Given the description of an element on the screen output the (x, y) to click on. 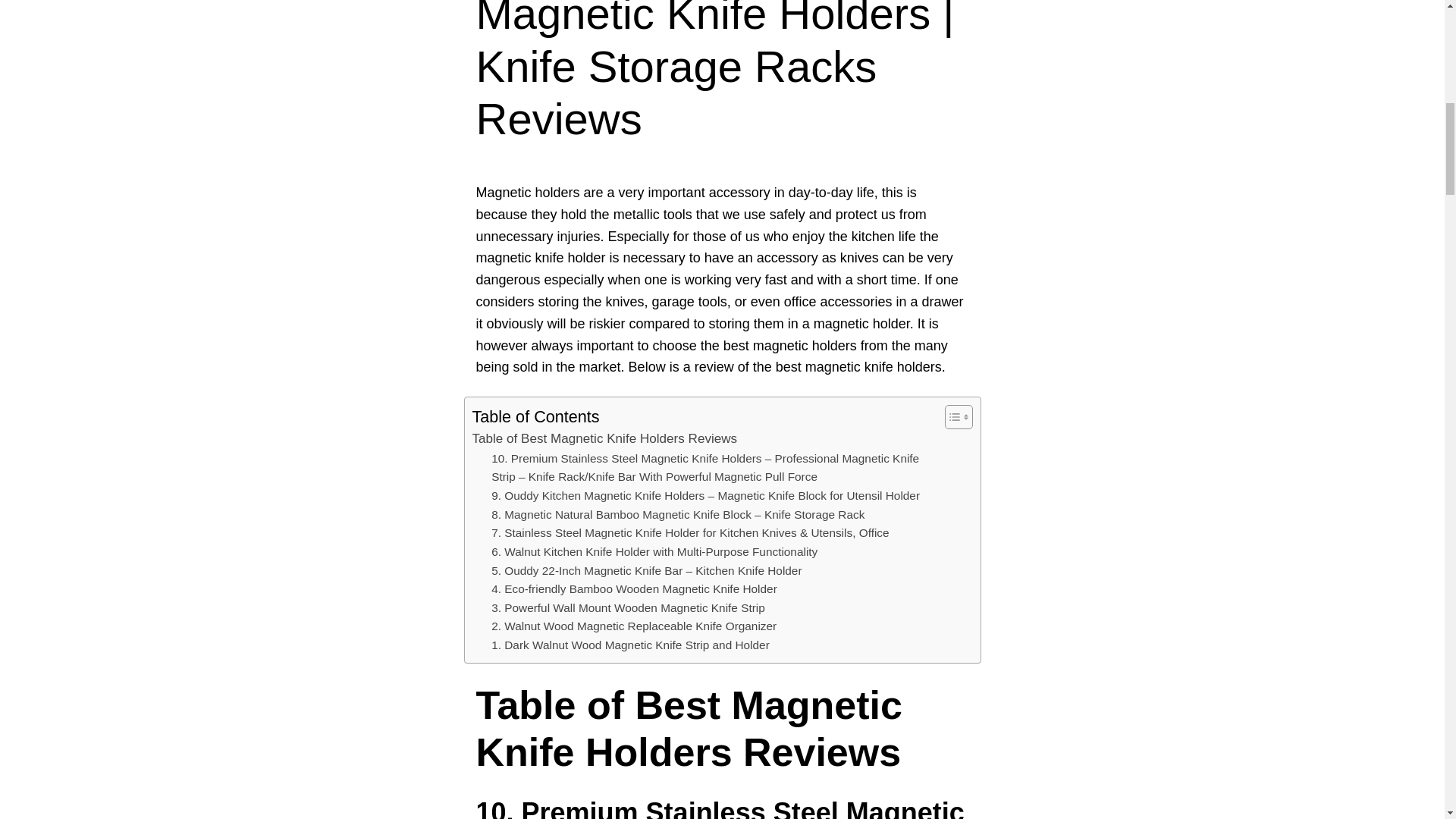
4. Eco-friendly Bamboo Wooden Magnetic Knife Holder (634, 588)
2. Walnut Wood Magnetic Replaceable Knife Organizer (634, 626)
3. Powerful Wall Mount Wooden Magnetic Knife Strip (628, 608)
1. Dark Walnut Wood Magnetic Knife Strip and Holder (631, 645)
1. Dark Walnut Wood Magnetic Knife Strip and Holder (631, 645)
3. Powerful Wall Mount Wooden Magnetic Knife Strip (628, 608)
2. Walnut Wood Magnetic Replaceable Knife Organizer (634, 626)
Table of Best Magnetic Knife Holders Reviews (603, 438)
Table of Best Magnetic Knife Holders Reviews (603, 438)
4. Eco-friendly Bamboo Wooden Magnetic Knife Holder (634, 588)
